Given the description of an element on the screen output the (x, y) to click on. 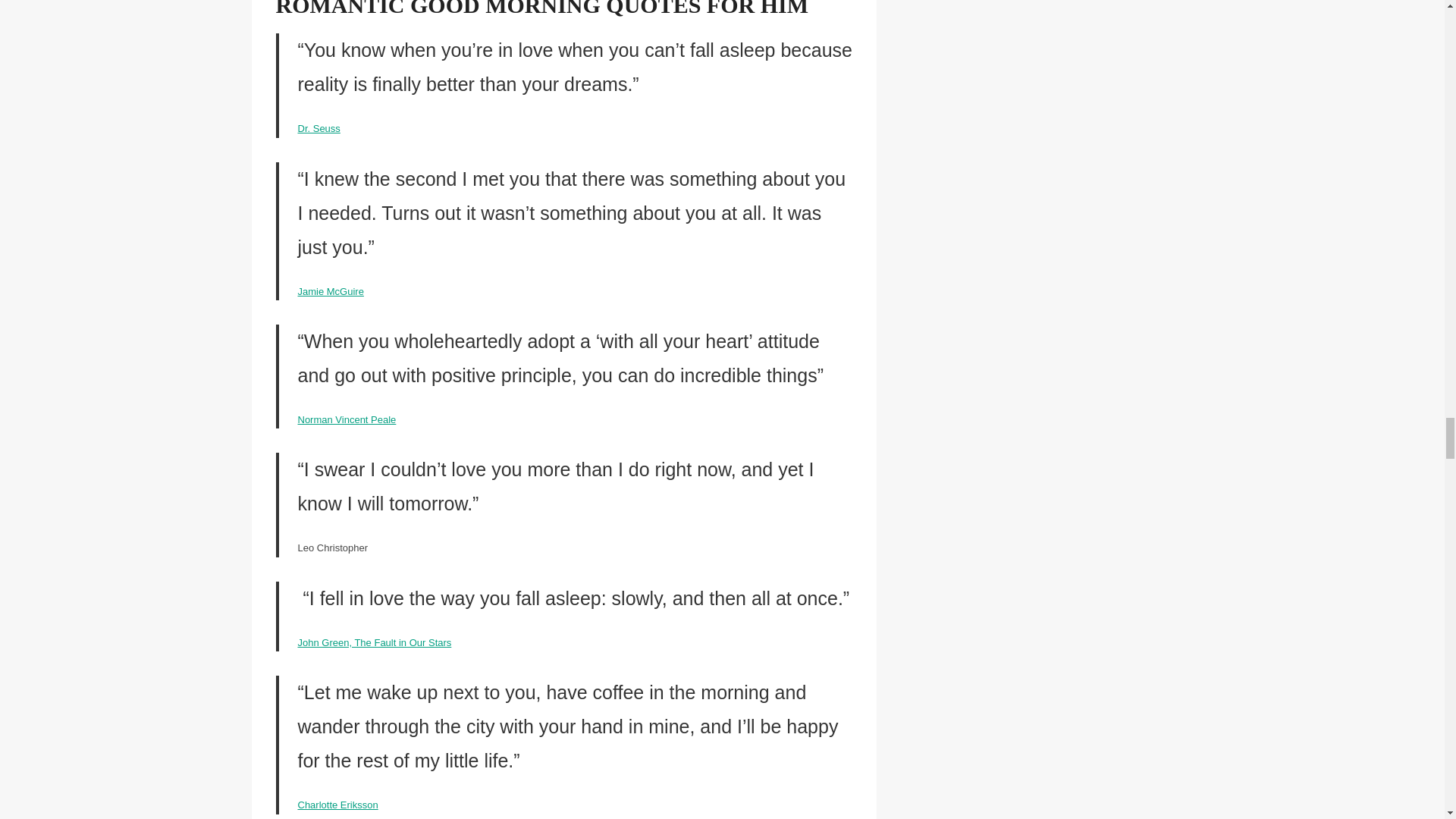
Charlotte Eriksson (337, 804)
Jamie McGuire (329, 291)
John Green, The Fault in Our Stars (374, 642)
Norman Vincent Peale (346, 419)
Dr. Seuss (318, 128)
